Given the description of an element on the screen output the (x, y) to click on. 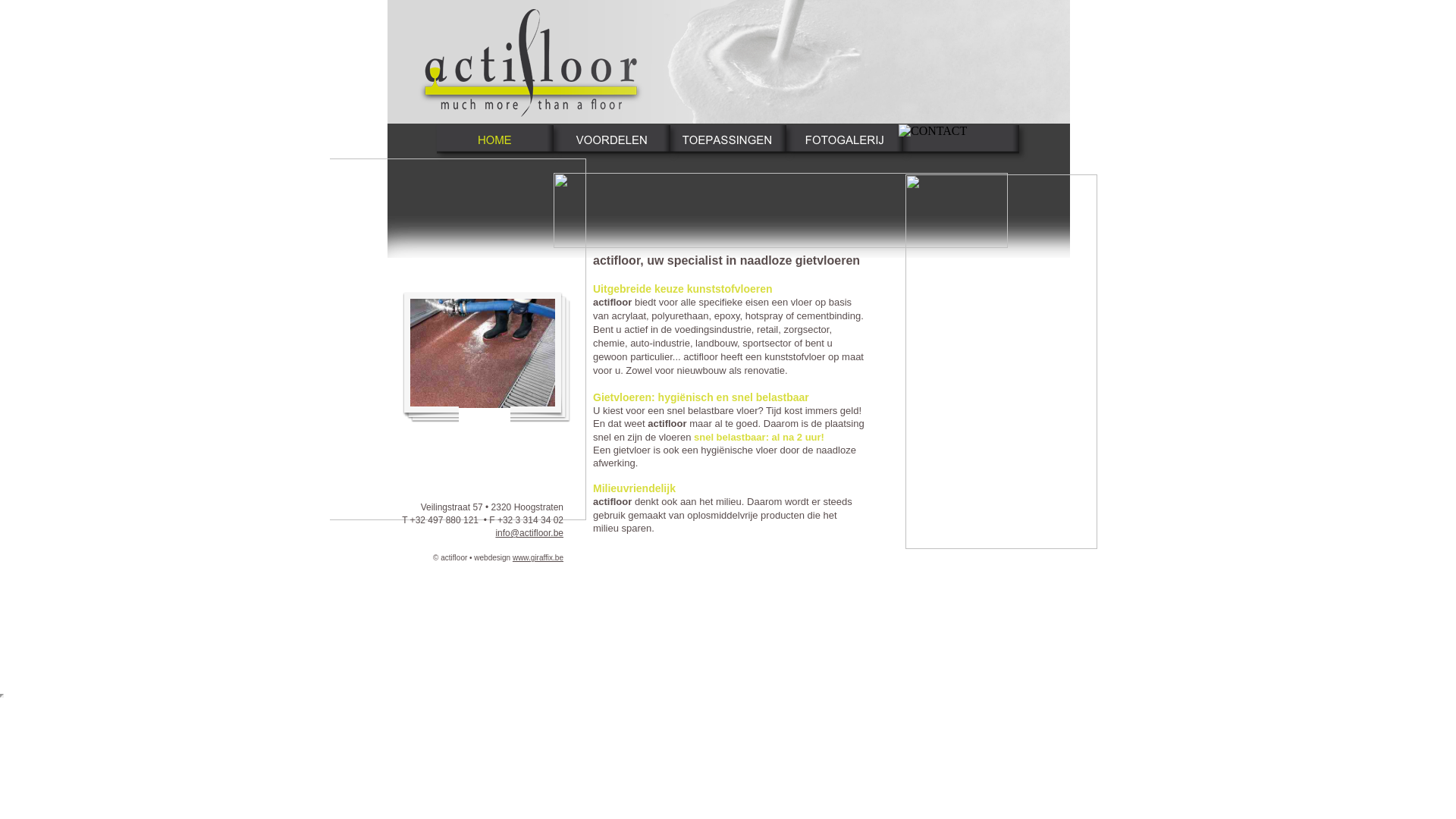
www.giraffix.be Element type: text (537, 557)
info@actifloor.be Element type: text (529, 532)
